Given the description of an element on the screen output the (x, y) to click on. 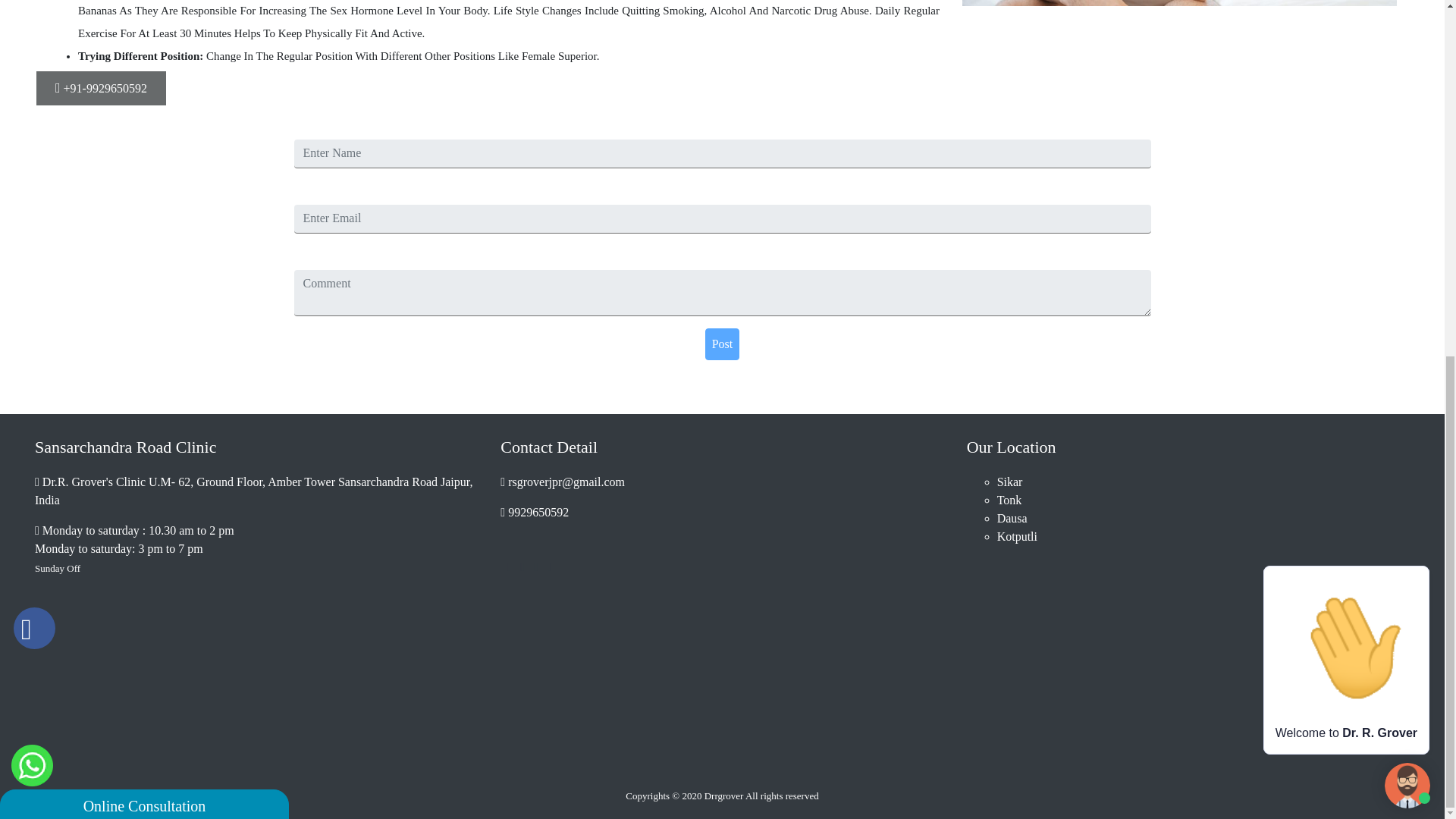
Sikar (1203, 482)
Tonk (1203, 500)
Online Consultation (144, 180)
Post (721, 344)
9929650592 (538, 512)
Dausa (1203, 518)
Kotputli (1203, 536)
